Given the description of an element on the screen output the (x, y) to click on. 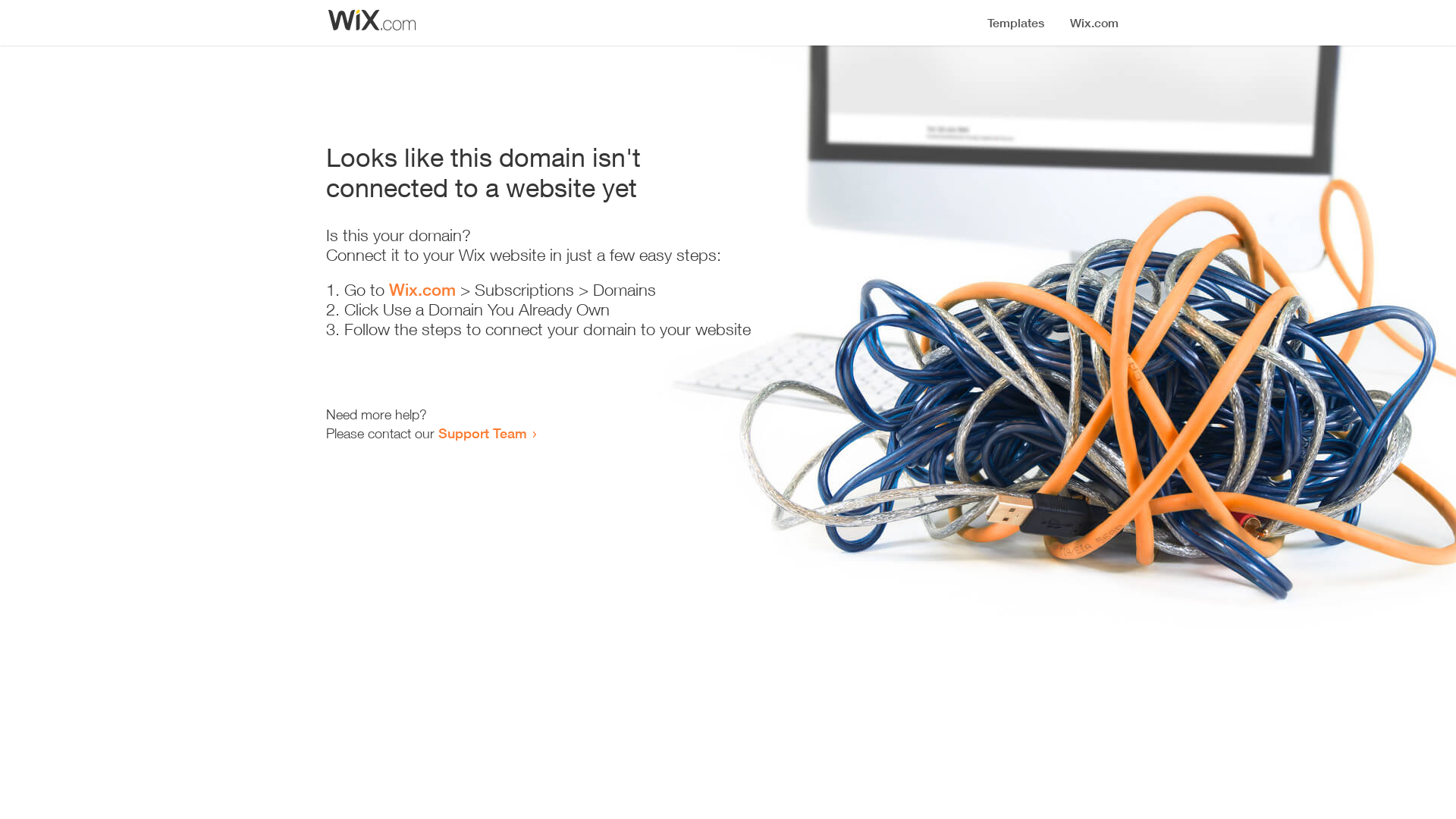
Support Team Element type: text (482, 432)
Wix.com Element type: text (422, 289)
